Given the description of an element on the screen output the (x, y) to click on. 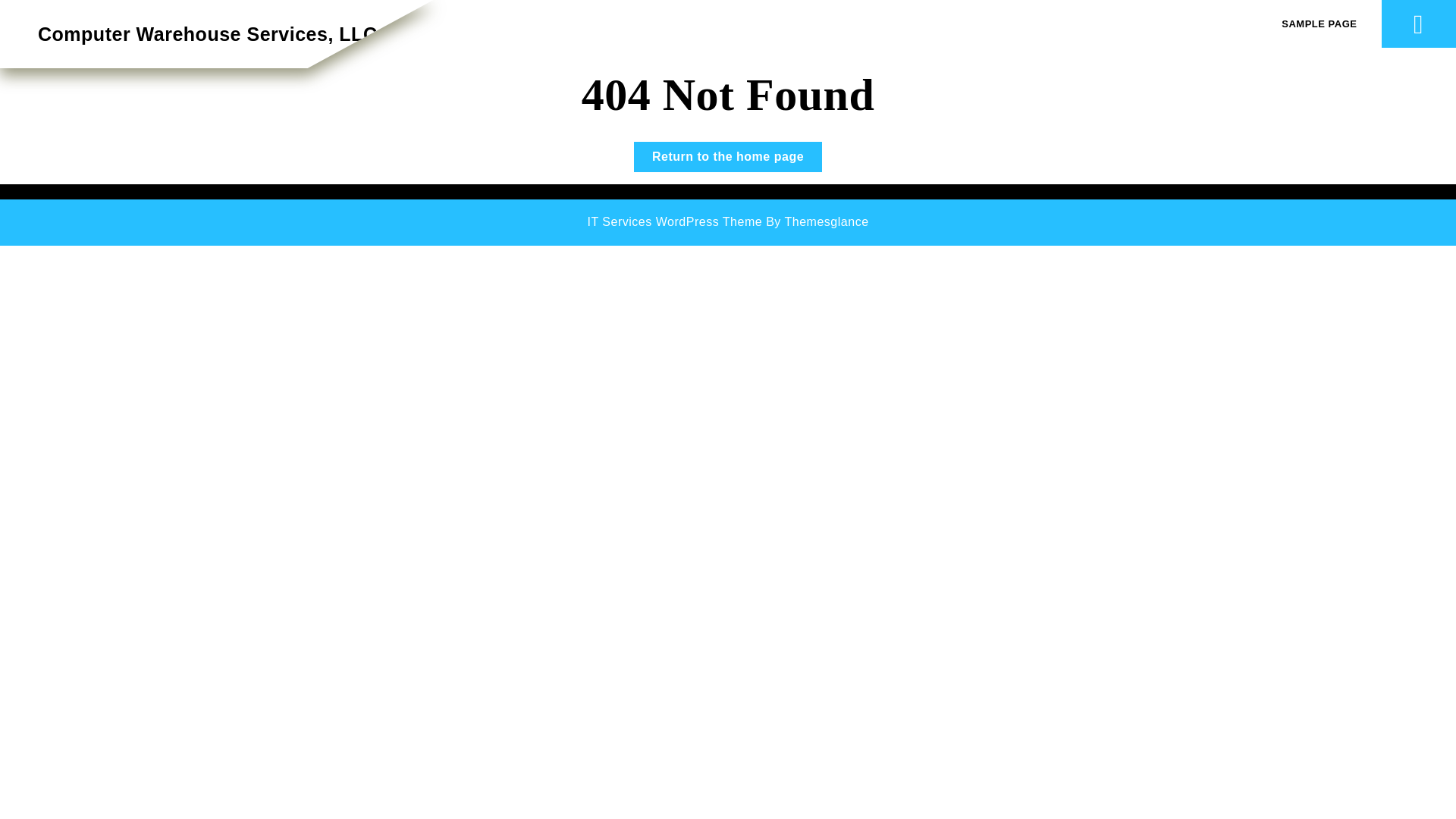
Computer Warehouse Services, LLC (727, 156)
IT Services WordPress Theme (207, 34)
SAMPLE PAGE (673, 221)
